Given the description of an element on the screen output the (x, y) to click on. 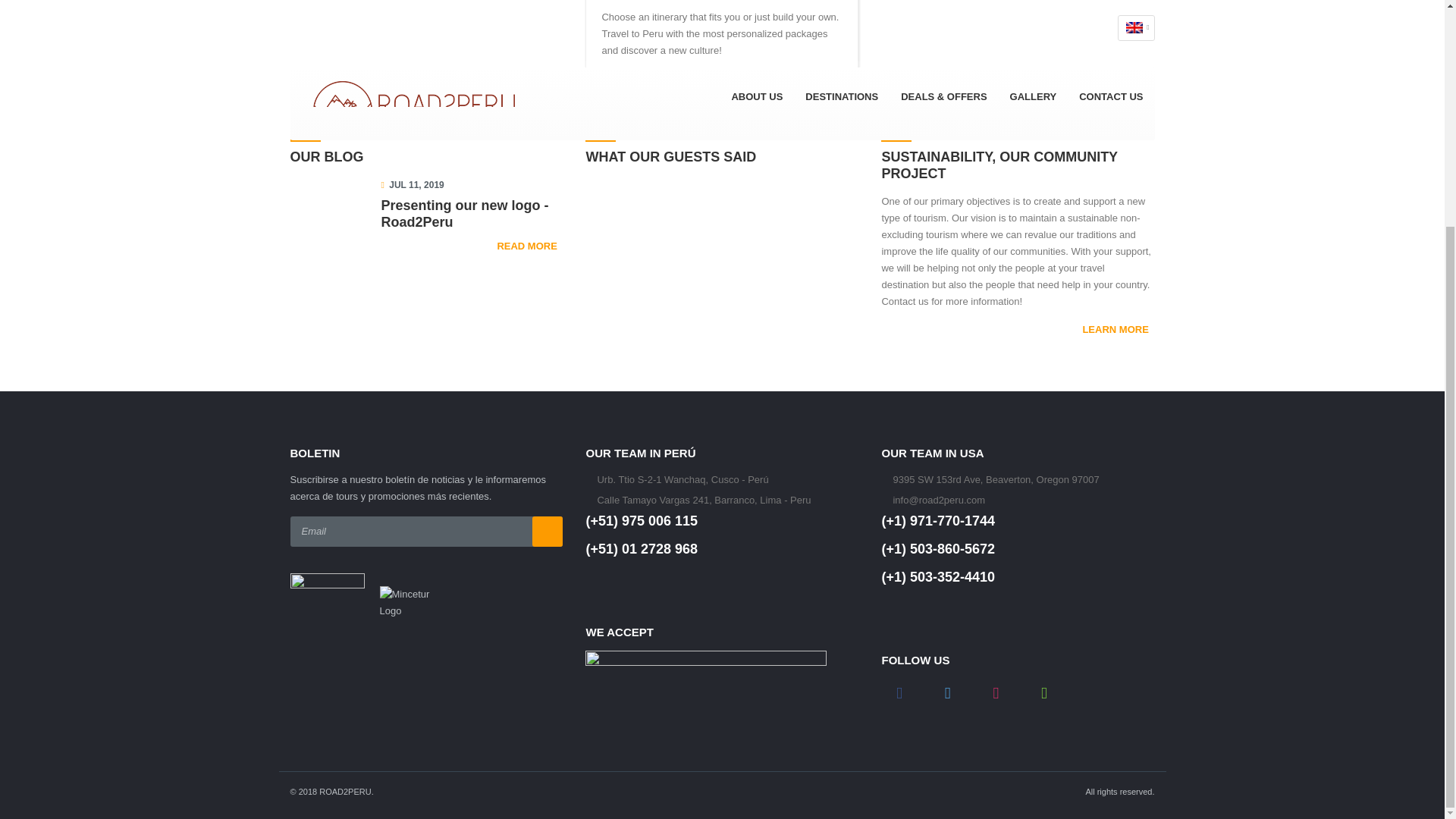
Subscribe (547, 531)
READ MORE (529, 246)
LEARN MORE (1117, 329)
Presenting our new logo - Road2Peru (471, 213)
Email (425, 531)
Subscribe (547, 531)
